Given the description of an element on the screen output the (x, y) to click on. 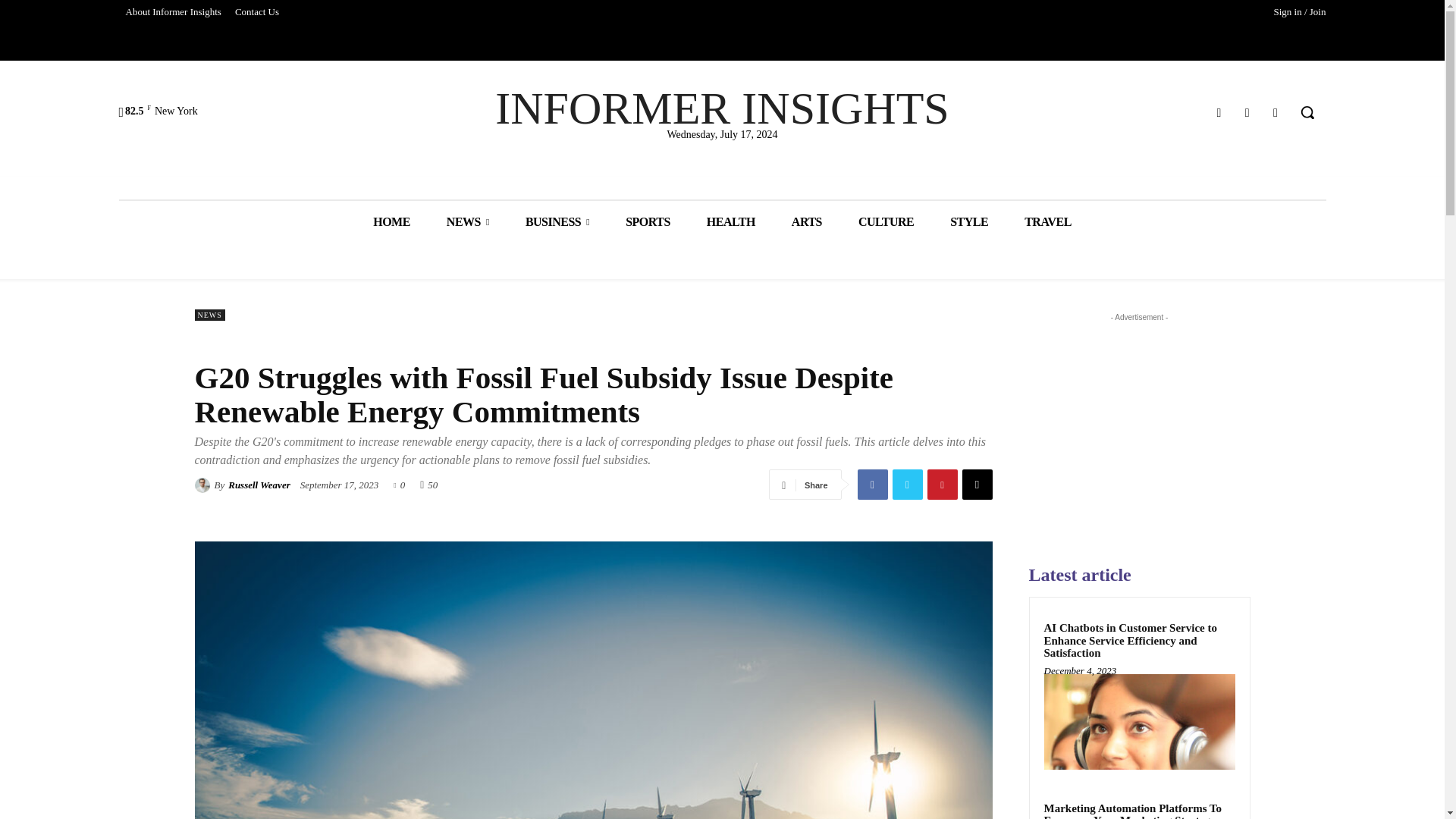
About Informer Insights (172, 12)
Contact Us (256, 12)
INFORMER INSIGHTS (721, 108)
Instagram (1246, 112)
Twitter (1275, 112)
NEWS (467, 221)
HOME (391, 221)
Facebook (1218, 112)
Informer Insights (721, 108)
